Given the description of an element on the screen output the (x, y) to click on. 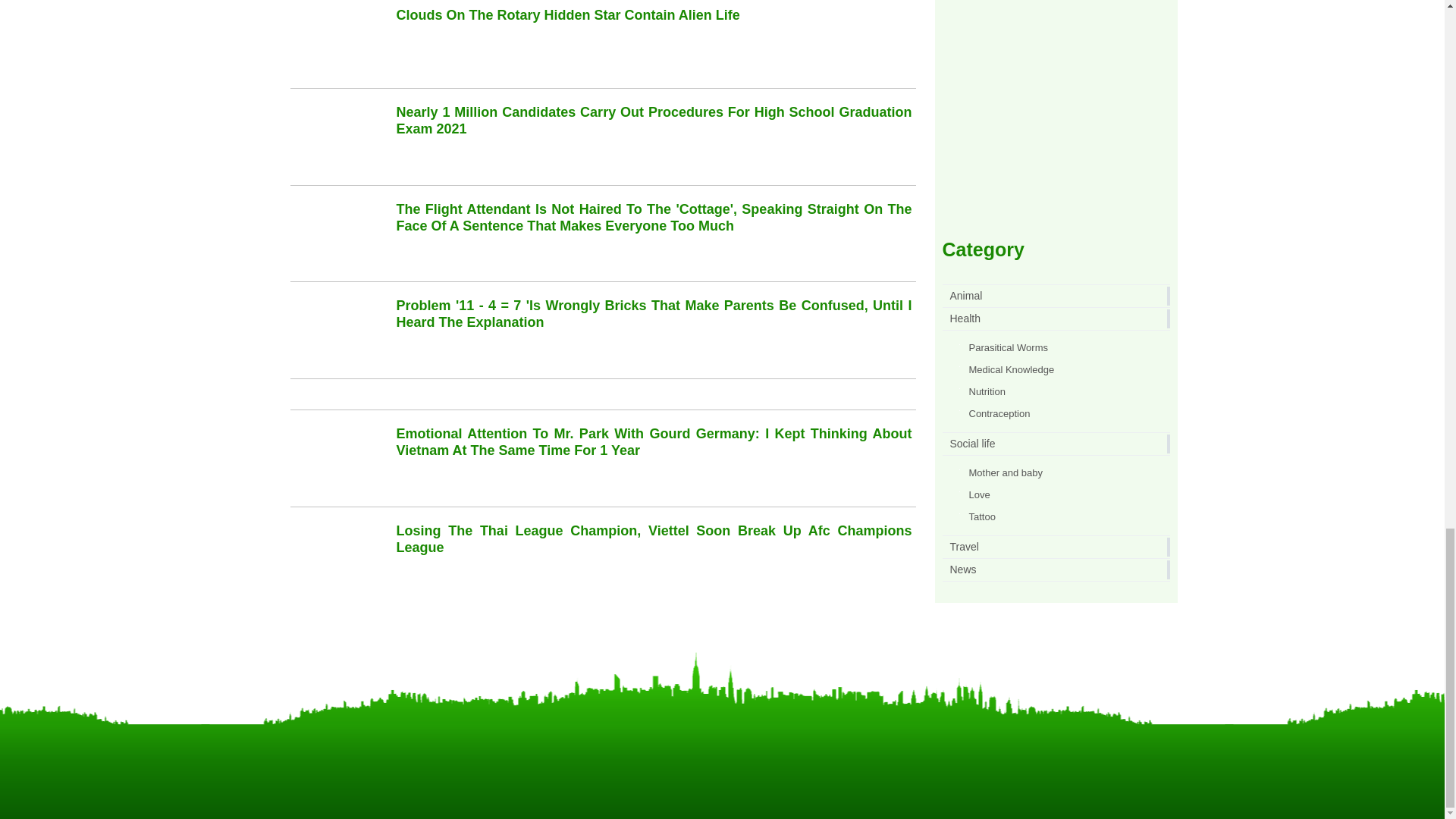
Clouds On The Rotary Hidden Star Contain Alien Life (567, 14)
